Given the description of an element on the screen output the (x, y) to click on. 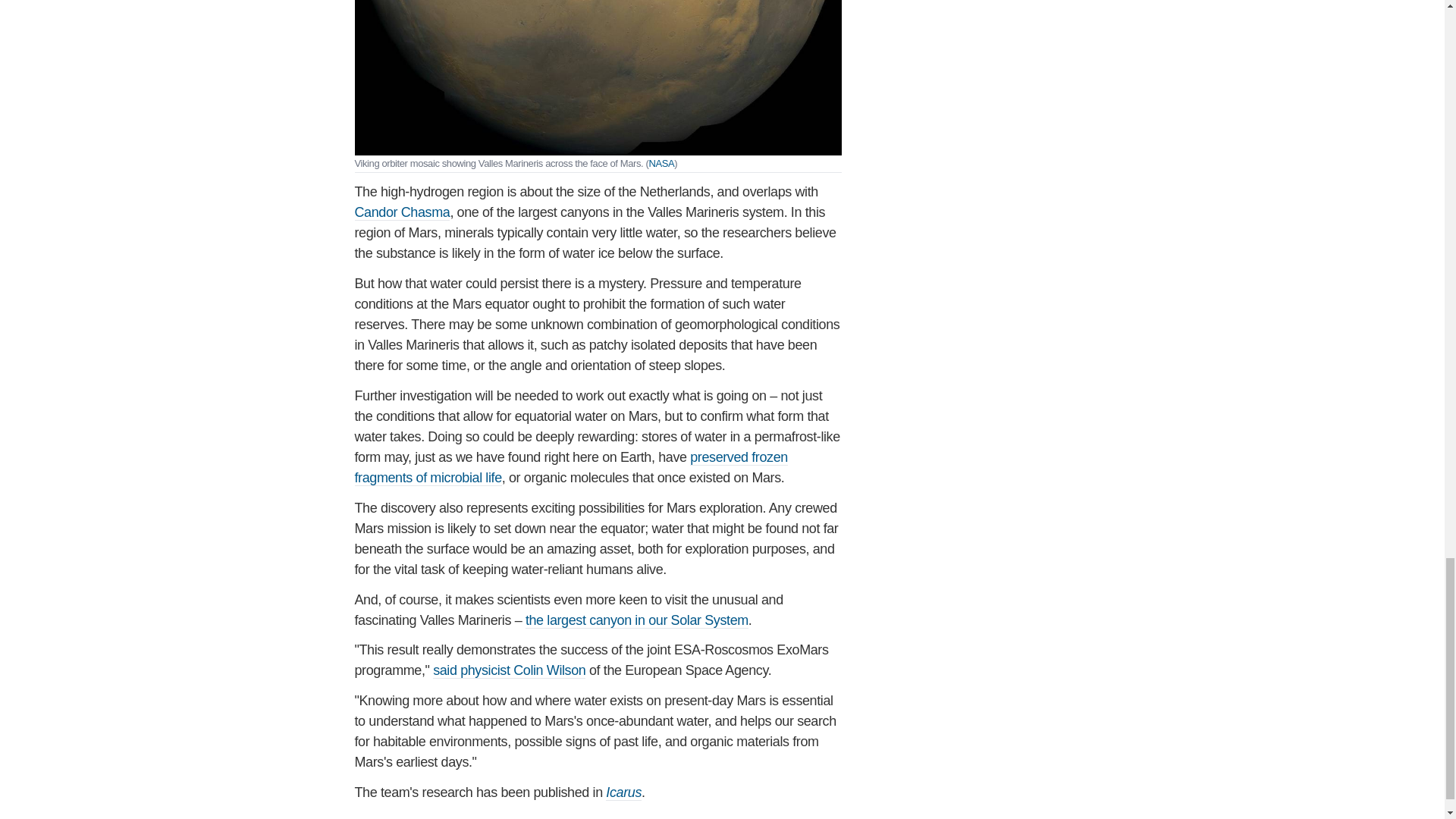
the largest canyon in our Solar System (636, 620)
preserved frozen fragments of microbial life (571, 467)
Candor Chasma (402, 212)
NASA (660, 163)
